Given the description of an element on the screen output the (x, y) to click on. 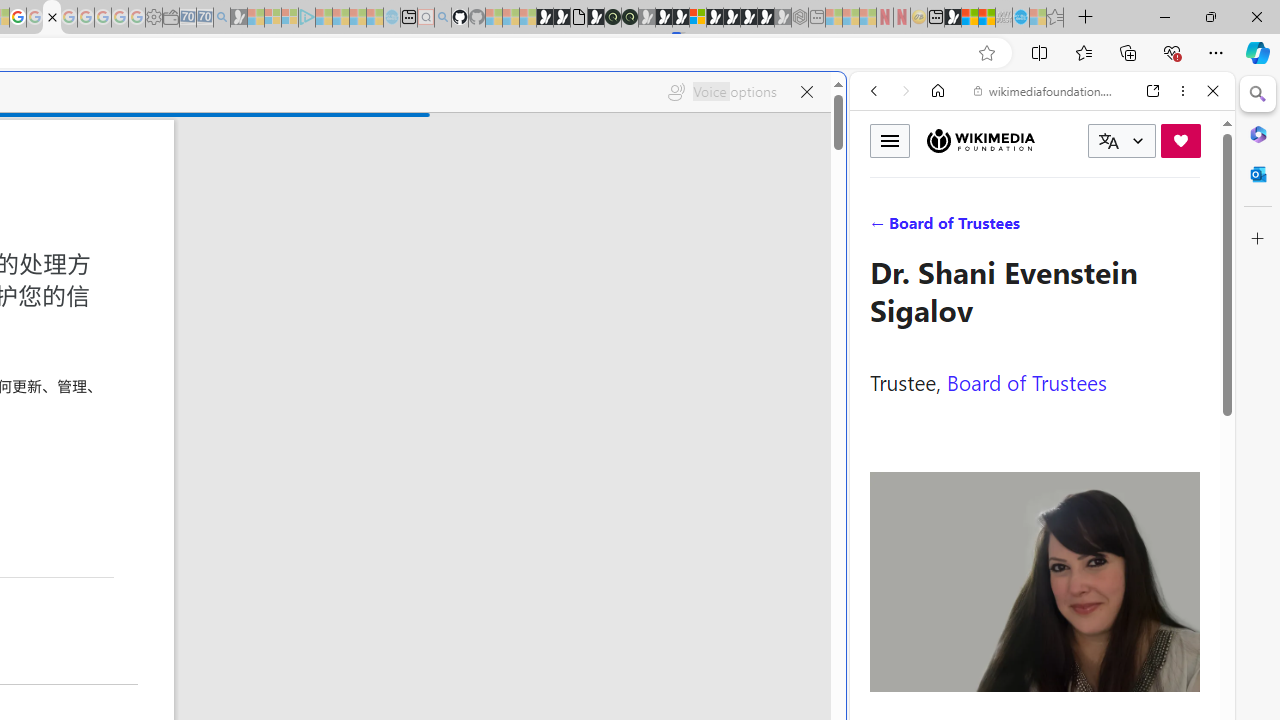
Tabs you've opened (276, 265)
Frequently visited (418, 265)
CURRENT LANGUAGE: (1121, 141)
